Given the description of an element on the screen output the (x, y) to click on. 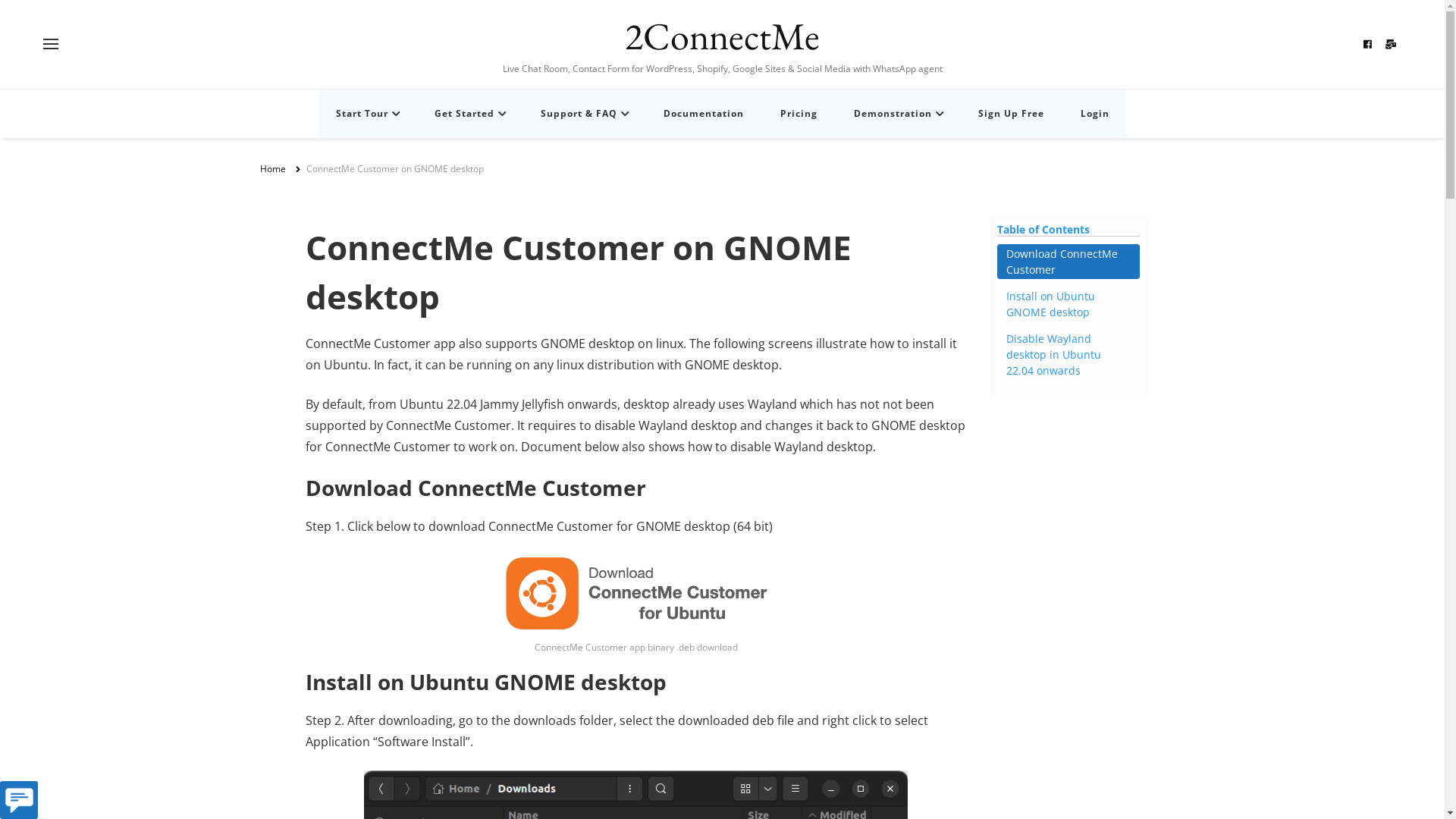
Sign Up Free Element type: text (1010, 113)
Install on Ubuntu GNOME desktop Element type: text (1067, 303)
Login Element type: text (1094, 113)
Start Tour Element type: text (366, 113)
Demonstration Element type: text (897, 113)
Pricing Element type: text (797, 113)
Home Element type: text (272, 169)
2ConnectMe Element type: text (721, 35)
Get Started Element type: text (468, 113)
ConnectMe Customer on GNOME desktop Element type: text (394, 169)
Download ConnectMe Customer Element type: text (1067, 261)
Documentation Element type: text (702, 113)
Support & FAQ Element type: text (583, 113)
Disable Wayland desktop in Ubuntu 22.04 onwards Element type: text (1067, 354)
